Given the description of an element on the screen output the (x, y) to click on. 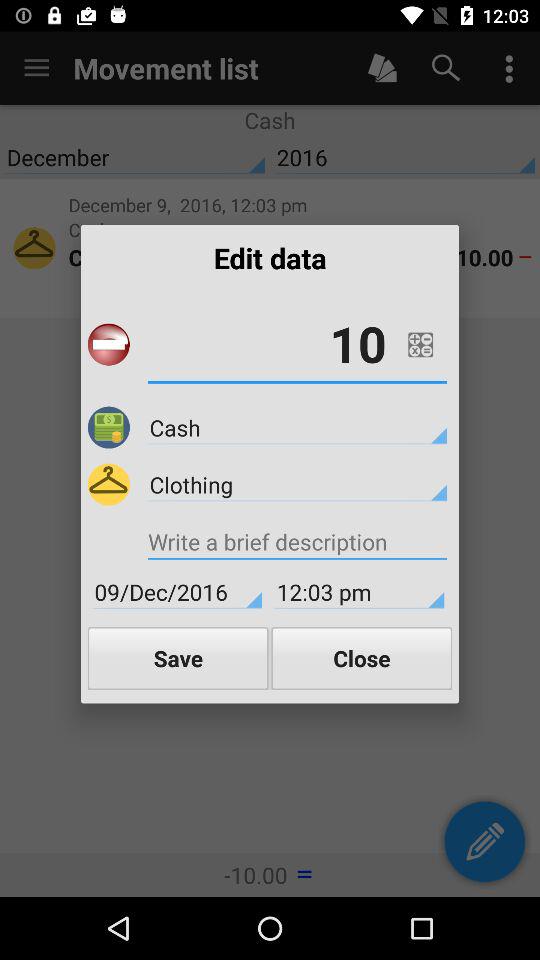
launch item at the bottom right corner (361, 658)
